Given the description of an element on the screen output the (x, y) to click on. 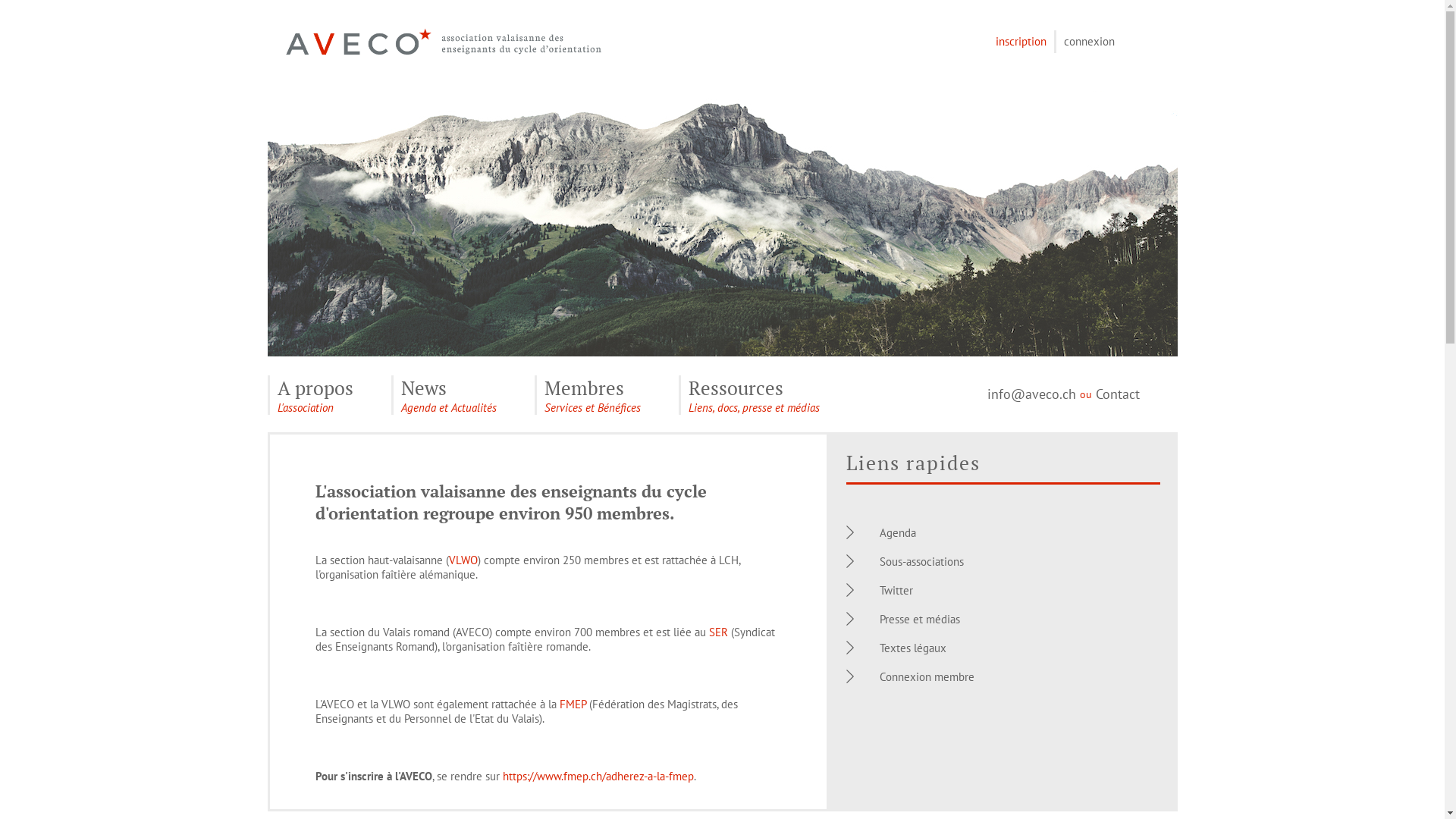
Agenda Element type: text (897, 532)
Twitter Element type: text (896, 590)
Connexion membre Element type: text (926, 676)
https://www.fmep.ch/adherez-a-la-fmep Element type: text (597, 775)
VLWO Element type: text (462, 559)
Sous-associations Element type: text (921, 561)
connexion Element type: text (1088, 41)
Contact Element type: text (1117, 393)
FMEP Element type: text (572, 703)
inscription Element type: text (1019, 41)
SER Element type: text (717, 631)
info@aveco.ch Element type: text (1031, 393)
